Given the description of an element on the screen output the (x, y) to click on. 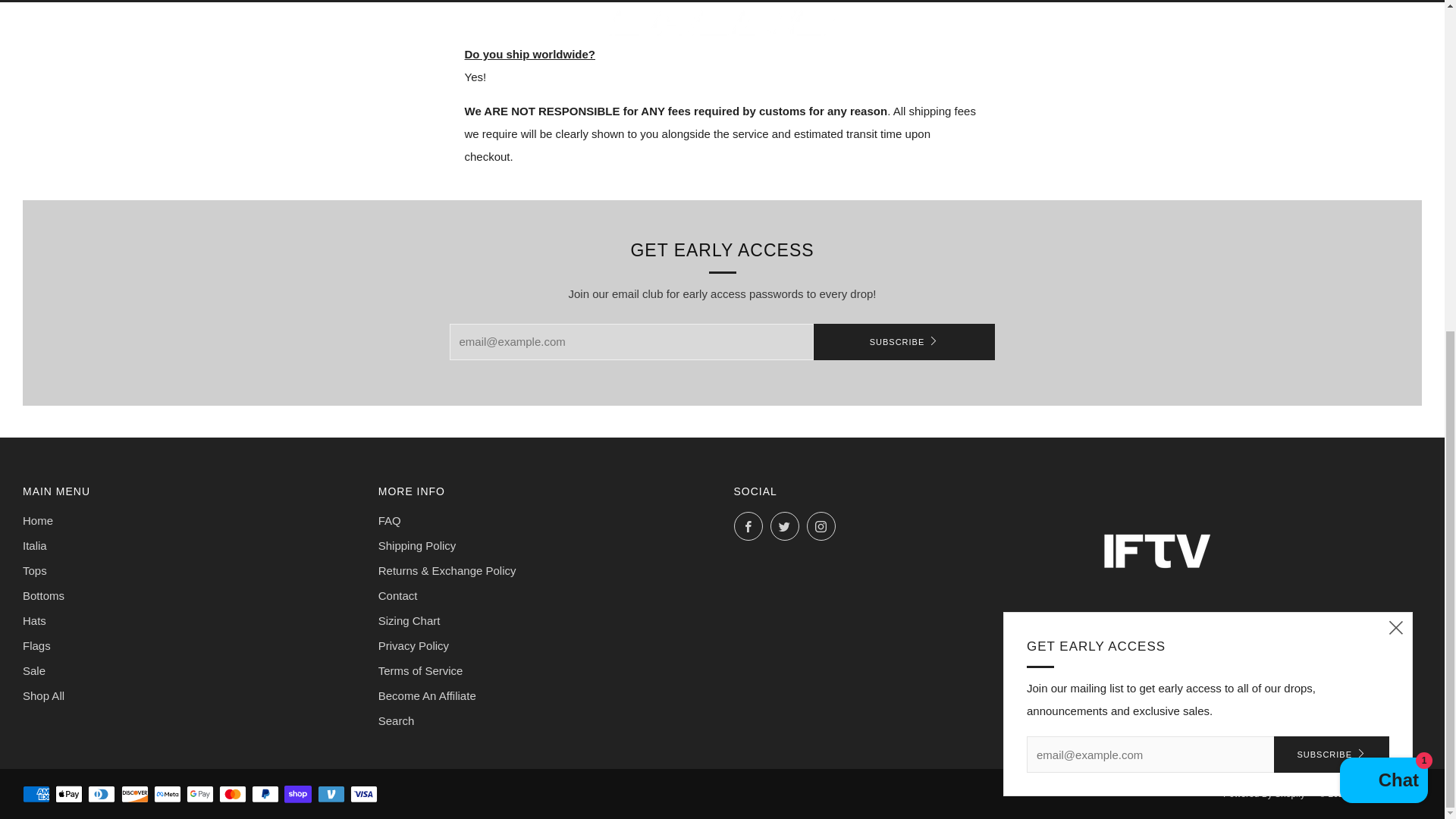
Flags (36, 645)
Tops (34, 570)
Hats (34, 620)
Shop All (43, 695)
SUBSCRIBE (903, 341)
Bottoms (43, 594)
Sale (34, 670)
Shopify online store chat (1383, 230)
Italia (34, 545)
Home (37, 520)
